Given the description of an element on the screen output the (x, y) to click on. 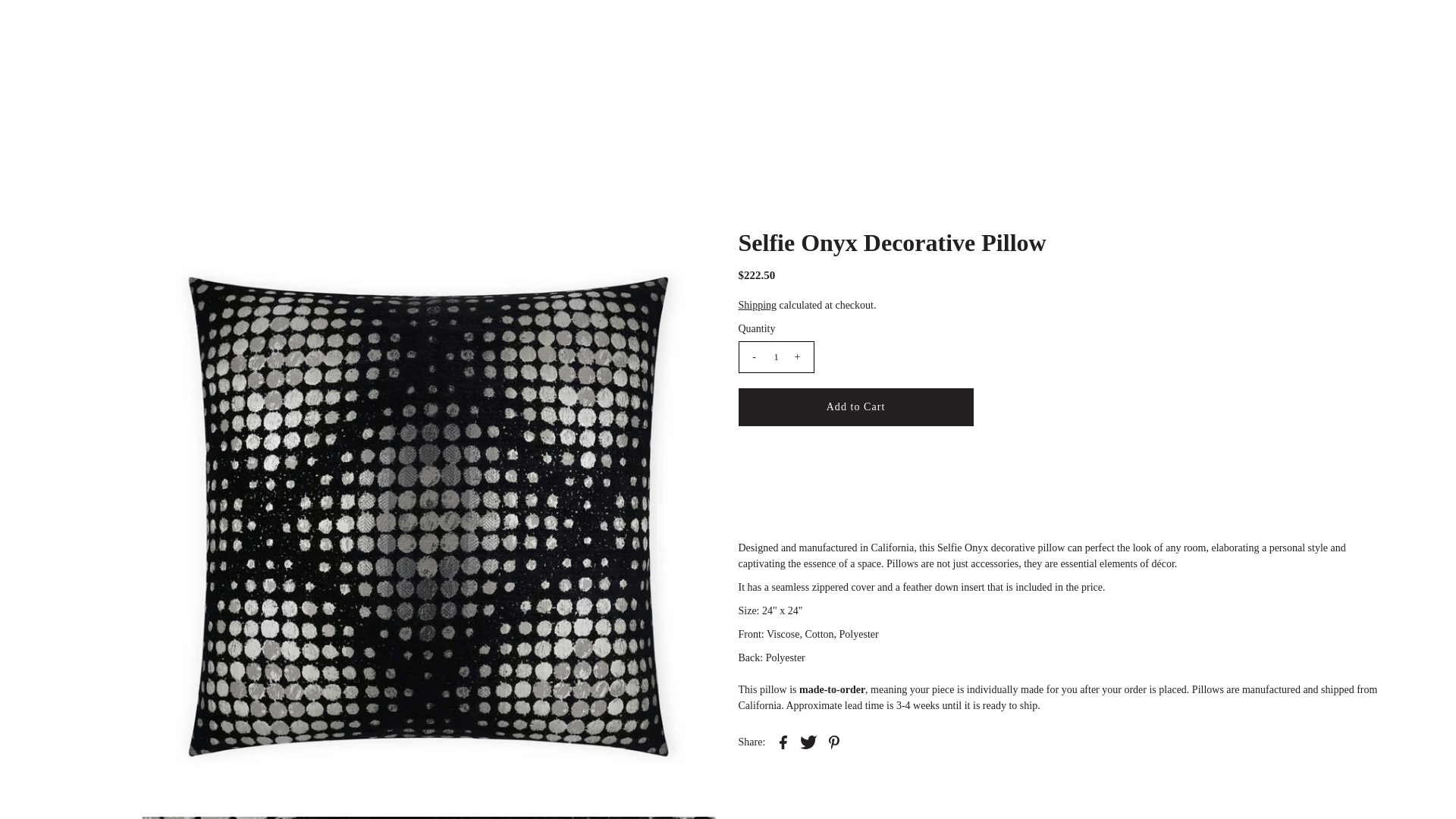
Share on Facebook (782, 741)
Add to Cart (856, 406)
Share on Twitter (807, 741)
Share on Pinterest (833, 741)
